Given the description of an element on the screen output the (x, y) to click on. 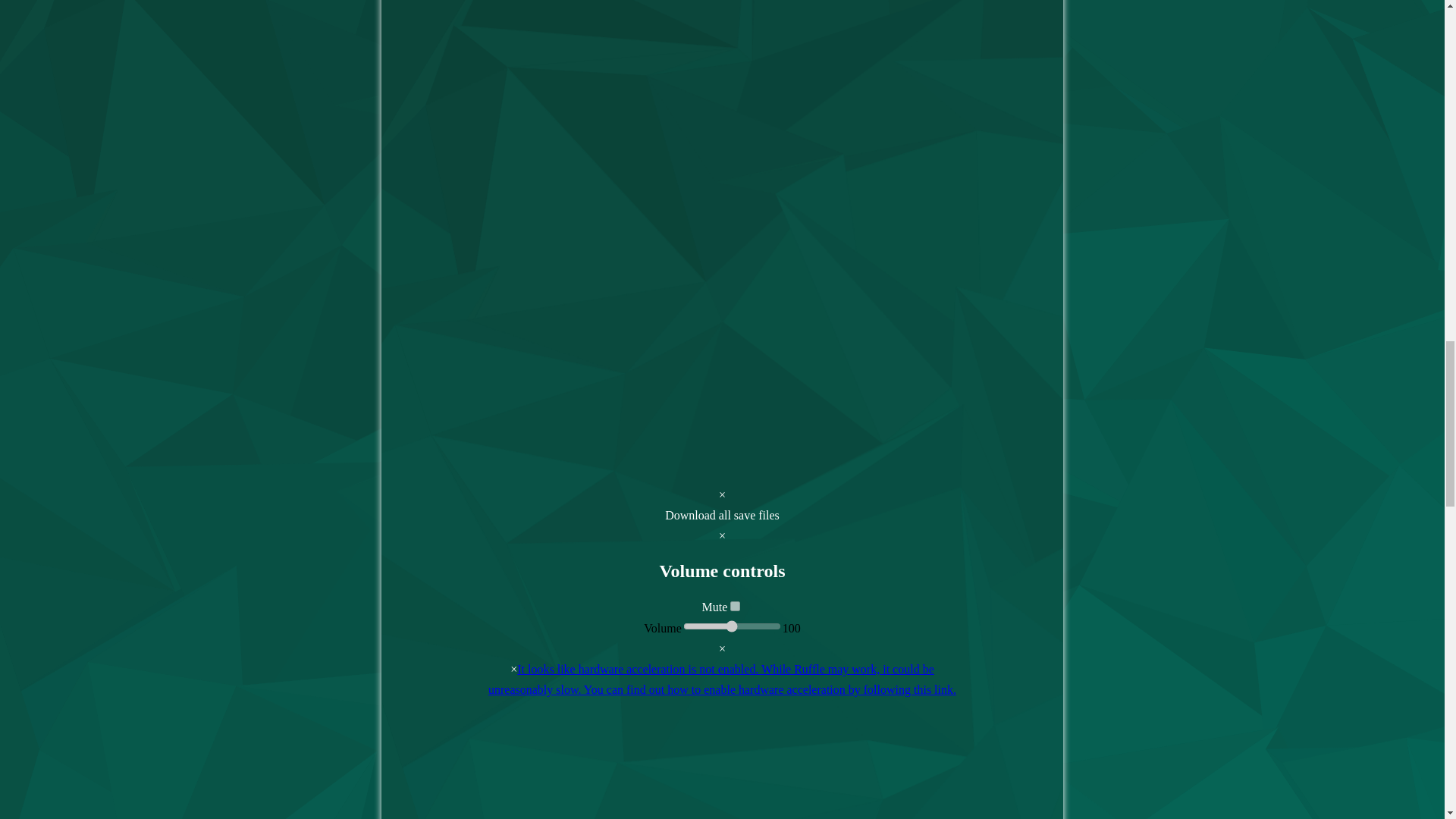
Advertisement (722, 765)
